Given the description of an element on the screen output the (x, y) to click on. 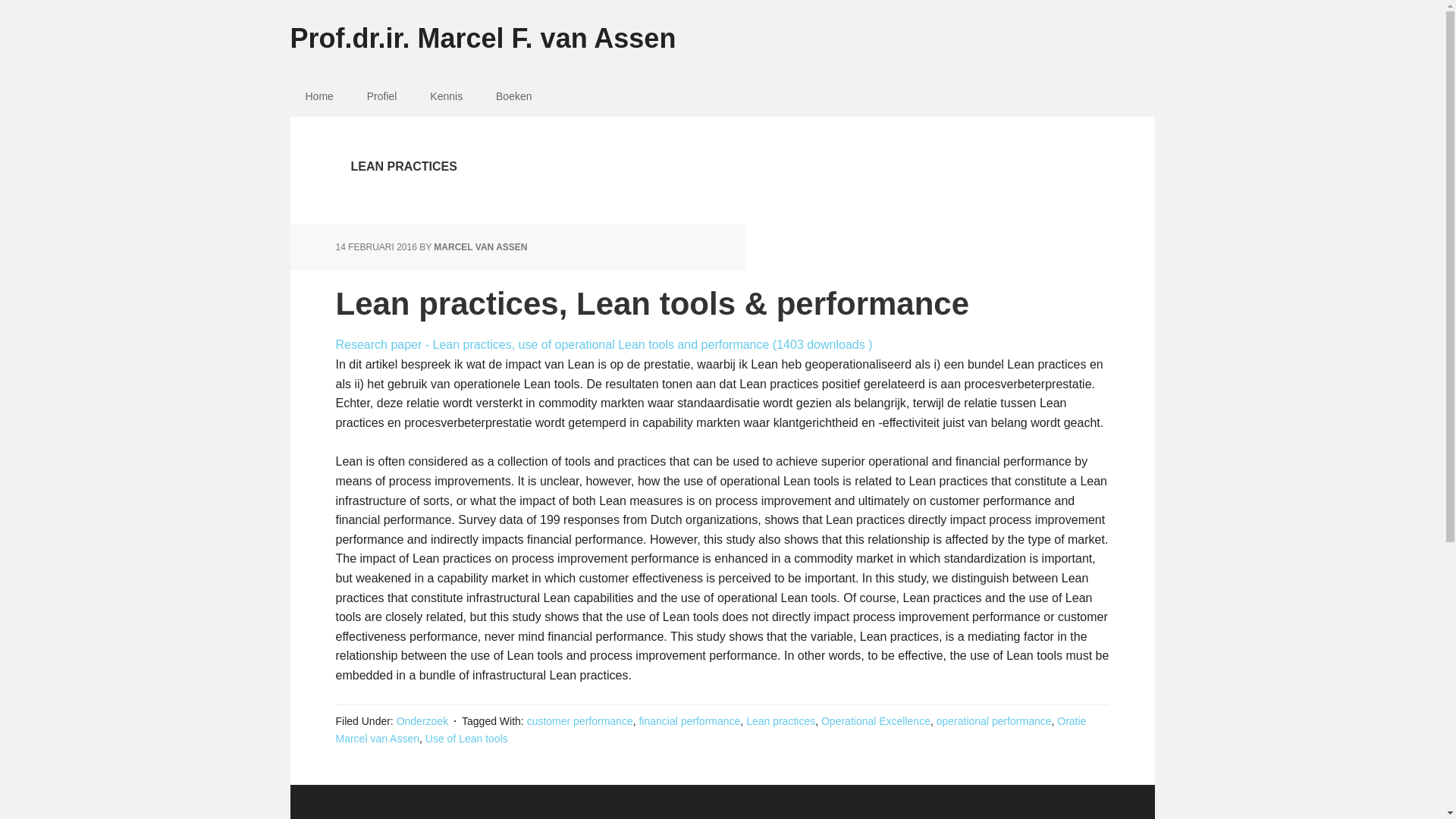
Use of Lean tools (466, 738)
MARCEL VAN ASSEN (480, 246)
Oratie Marcel van Assen (710, 728)
Home (318, 96)
operational performance (993, 720)
financial performance (689, 720)
Profiel (382, 96)
Operational Excellence (875, 720)
Prof.dr.ir. Marcel F. van Assen (721, 27)
Onderzoek (422, 720)
Kennis (445, 96)
Lean practices (780, 720)
customer performance (580, 720)
Boeken (513, 96)
